Given the description of an element on the screen output the (x, y) to click on. 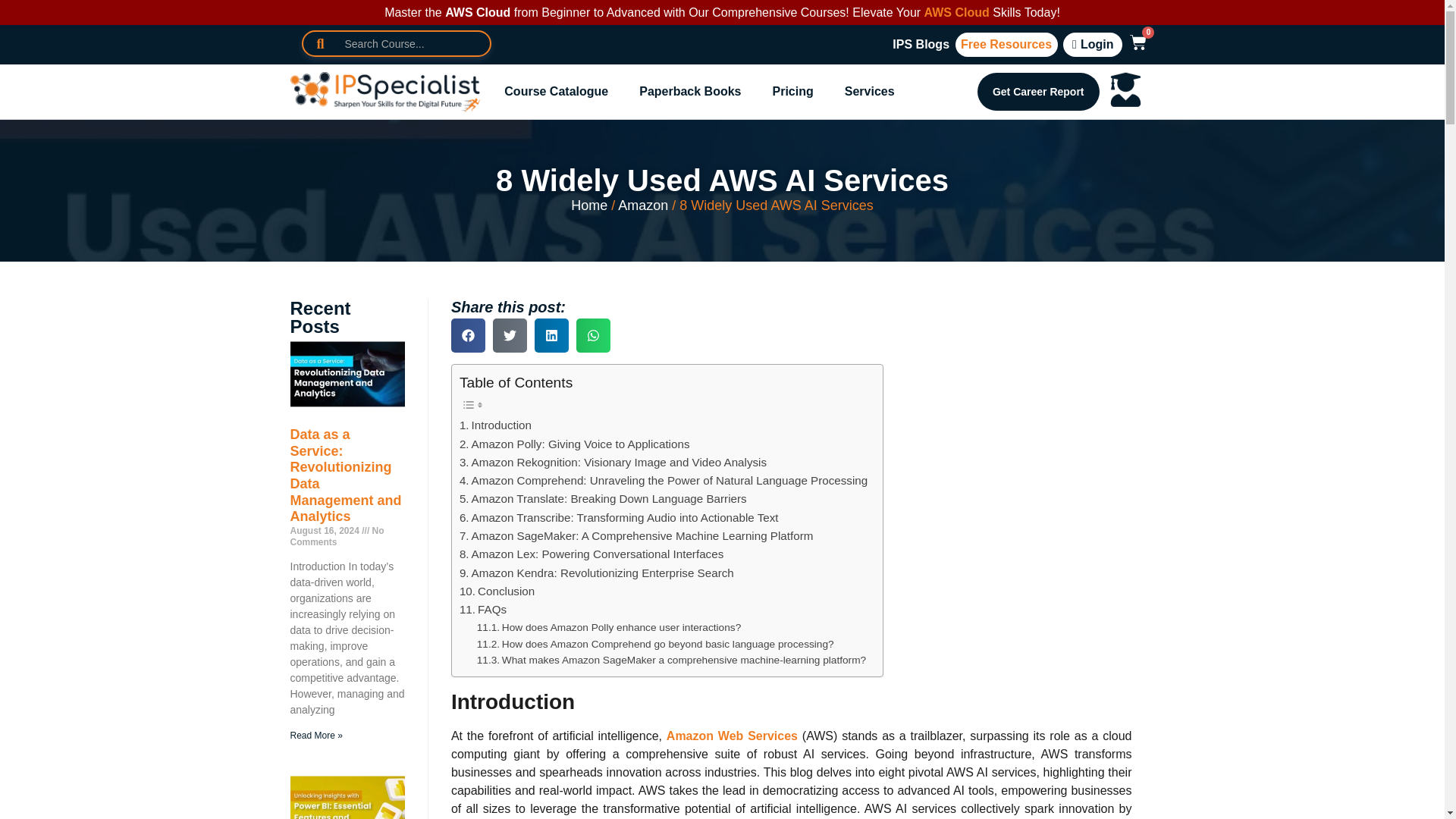
Amazon Polly: Giving Voice to Applications (575, 443)
Amazon Rekognition: Visionary Image and Video Analysis (613, 462)
Amazon Transcribe: Transforming Audio into Actionable Text (619, 517)
Amazon Translate: Breaking Down Language Barriers (603, 498)
0 (1134, 44)
Free Resources (1005, 44)
Course Catalogue (555, 91)
Amazon Kendra: Revolutionizing Enterprise Search (596, 573)
Conclusion (497, 591)
